Given the description of an element on the screen output the (x, y) to click on. 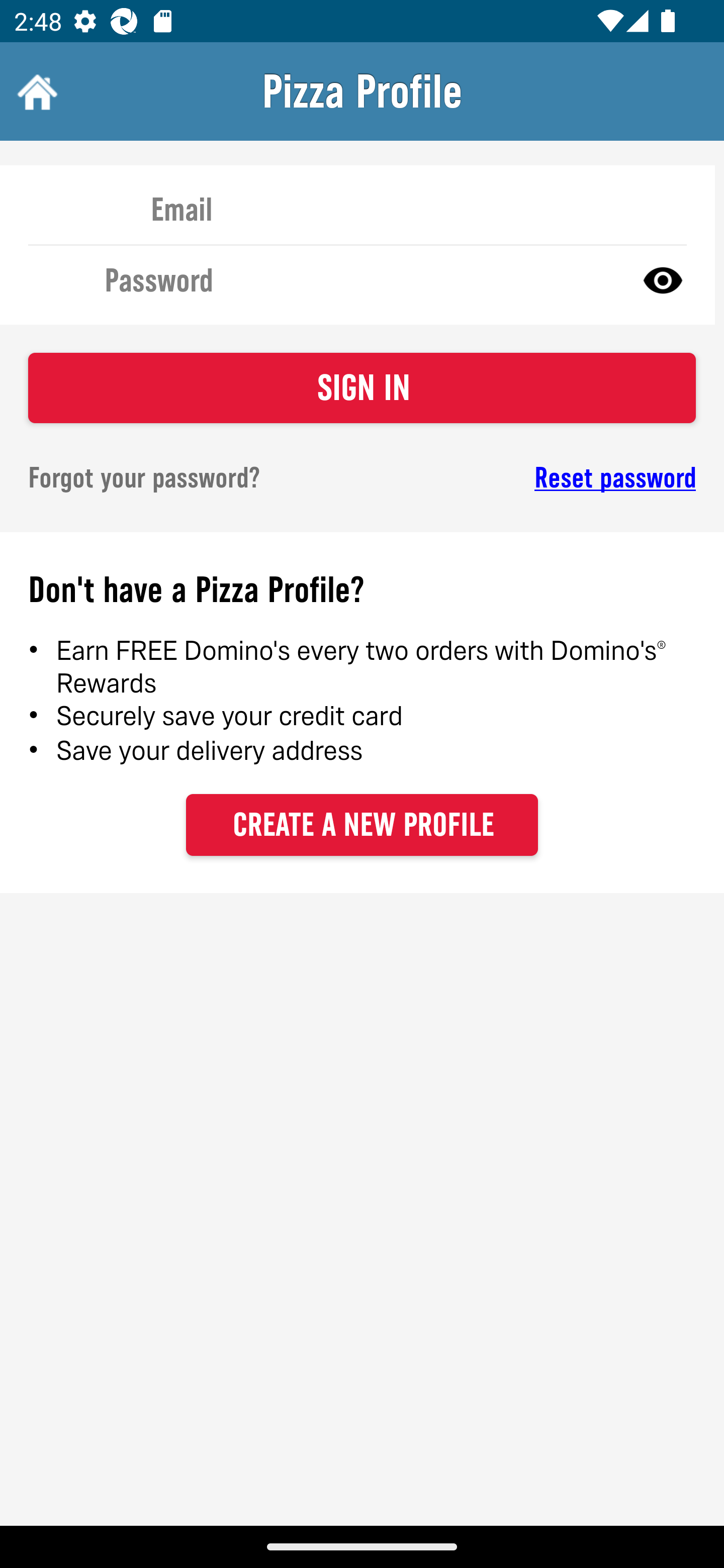
Home (35, 91)
Show Password (663, 279)
SIGN IN (361, 387)
Reset password (545, 477)
CREATE A NEW PROFILE (361, 824)
